Given the description of an element on the screen output the (x, y) to click on. 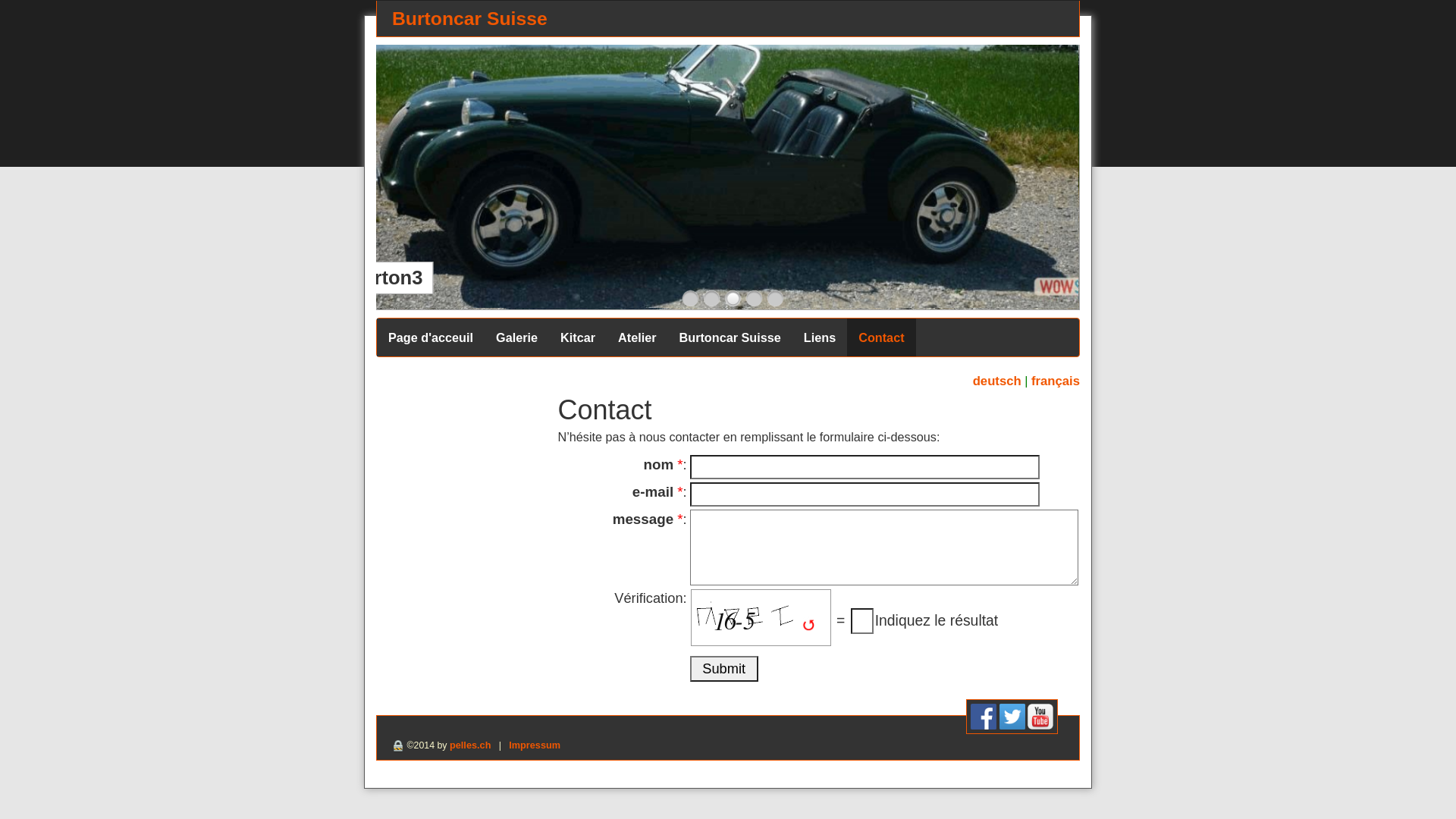
Page d'acceuil Element type: text (430, 337)
Burton3 Element type: hover (727, 176)
                       Element type: text (1028, 288)
Atelier Element type: text (636, 337)
4 Element type: text (753, 298)
Contact Element type: text (881, 337)
2 Element type: text (711, 298)
Submit Element type: text (724, 668)
Kitcar Element type: text (577, 337)
3 Element type: text (732, 298)
pelles.ch Element type: text (469, 744)
1 Element type: text (690, 298)
Galerie Element type: text (516, 337)
5 Element type: text (775, 298)
Impressum Element type: text (534, 744)
Burtoncar Suisse Element type: text (730, 337)
deutsch Element type: text (996, 380)
Liens Element type: text (819, 337)
